Given the description of an element on the screen output the (x, y) to click on. 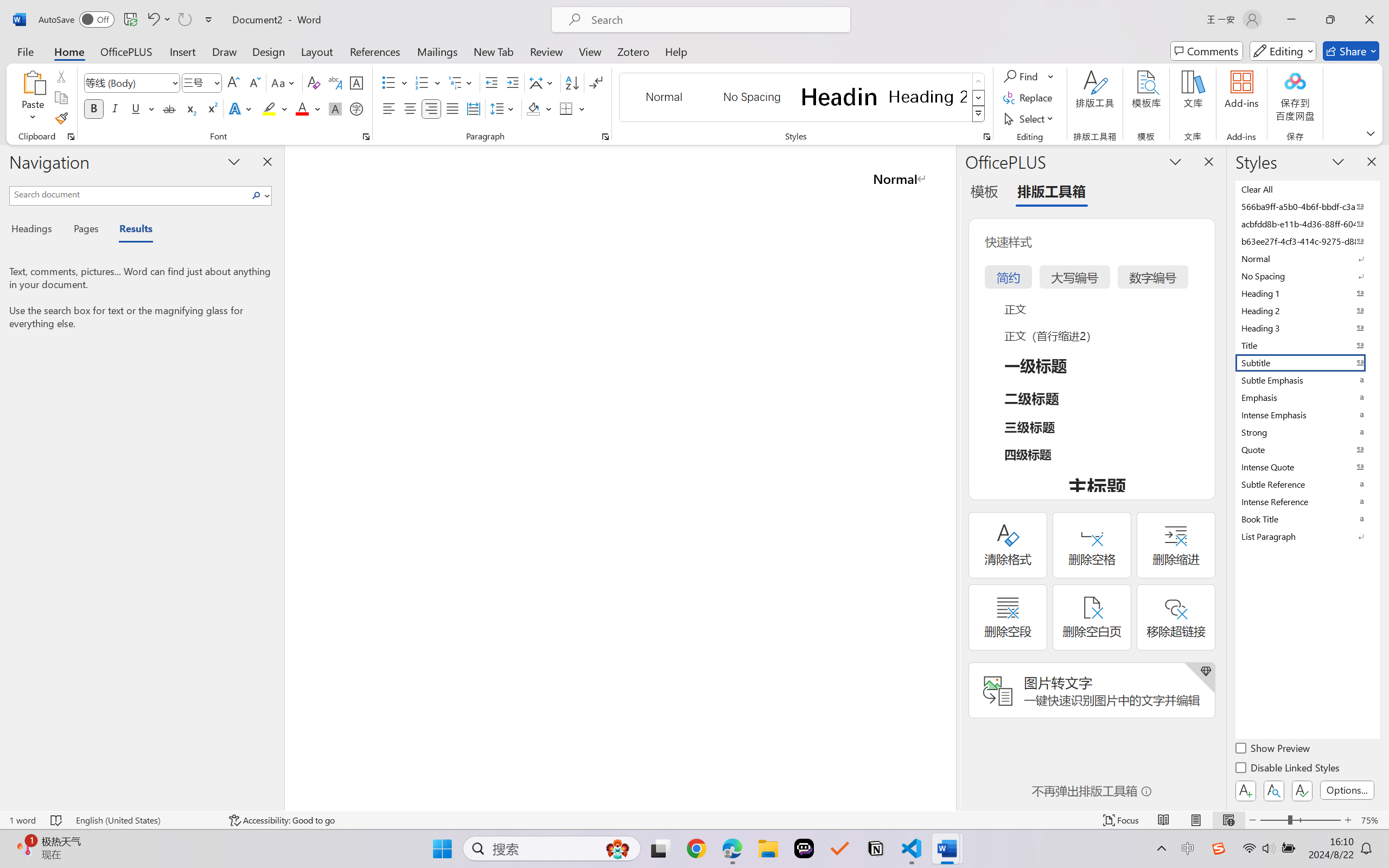
Paragraph... (605, 136)
Search document (128, 193)
Options... (1346, 789)
Shrink Font (253, 82)
Task Pane Options (1175, 161)
View (589, 51)
Class: NetUIImage (978, 114)
Shading (539, 108)
Character Border (356, 82)
Disable Linked Styles (1287, 769)
Distributed (473, 108)
Multilevel List (461, 82)
